Given the description of an element on the screen output the (x, y) to click on. 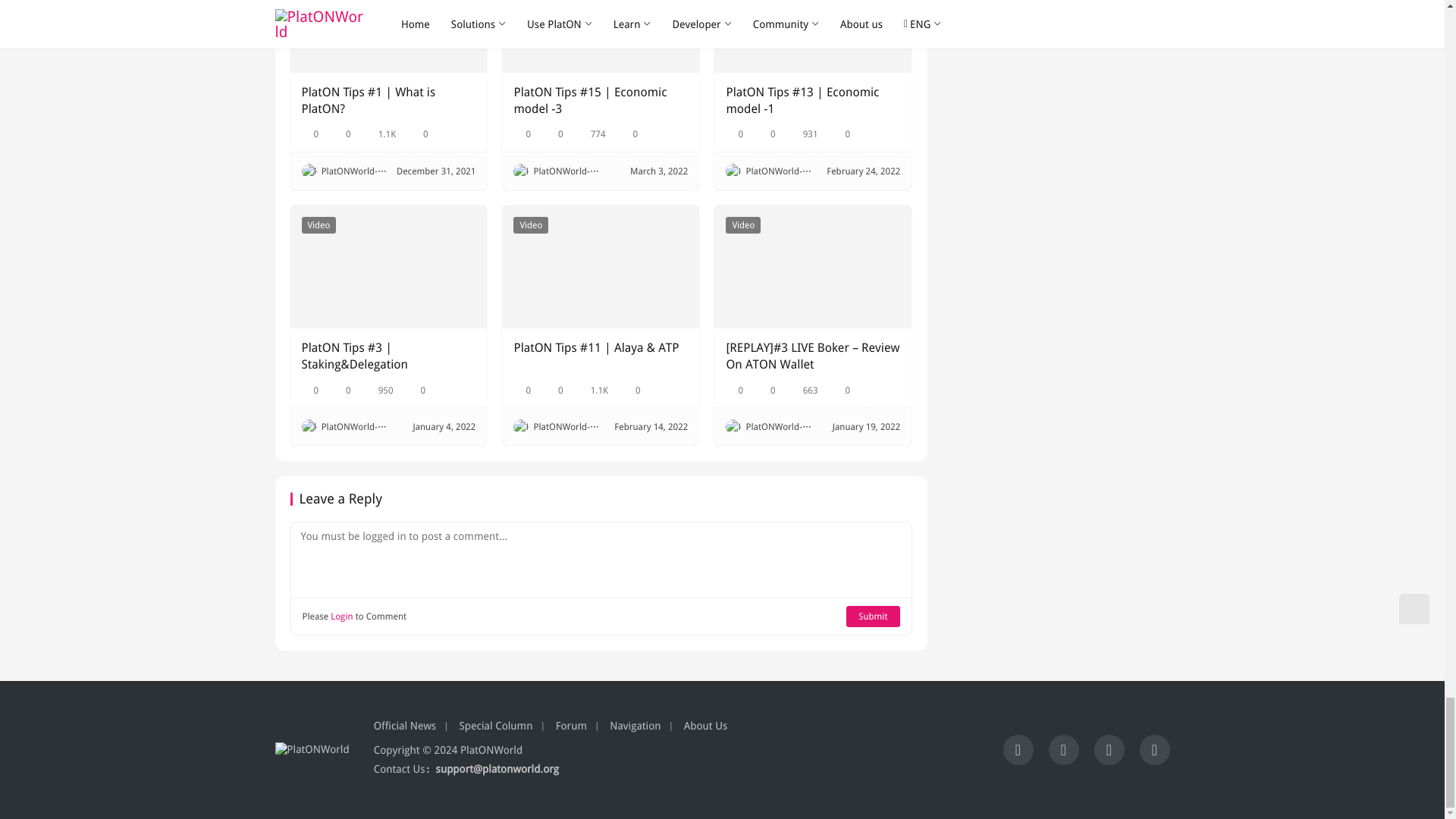
Favorites (733, 133)
Views (591, 133)
Comments (841, 133)
Comments (630, 133)
Views (804, 133)
Favorites (309, 133)
Likes (767, 133)
Views (381, 133)
Comments (419, 133)
Likes (341, 133)
Favorites (522, 133)
Likes (554, 133)
